Given the description of an element on the screen output the (x, y) to click on. 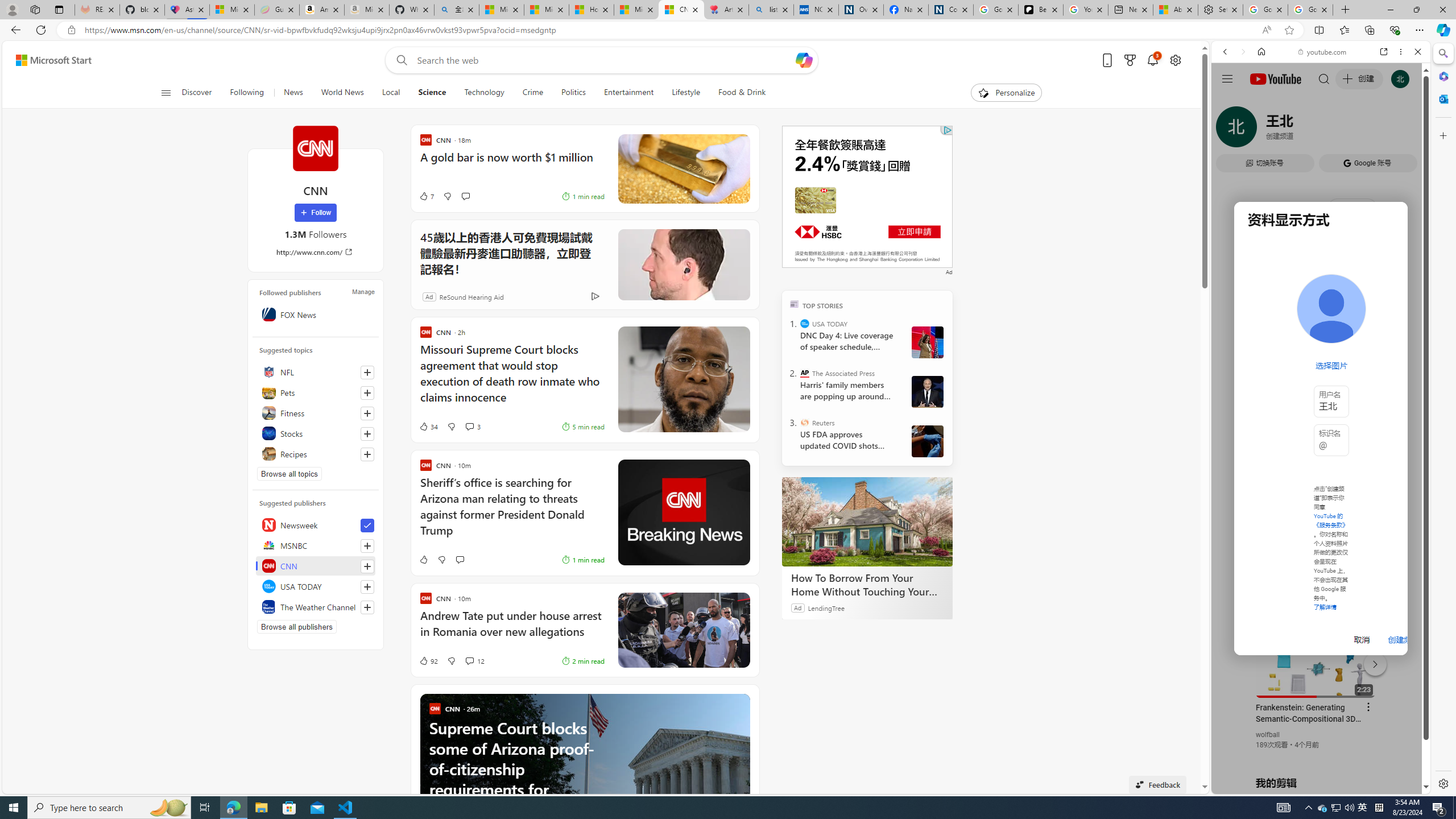
Fitness (315, 412)
#you (1315, 659)
Close Outlook pane (1442, 98)
How To Borrow From Your Home Without Touching Your Mortgage (866, 521)
Search Filter, IMAGES (1262, 129)
Newsweek (315, 524)
Class: qc-adchoices-icon (947, 130)
CNN (314, 148)
Microsoft-Report a Concern to Bing (232, 9)
